Given the description of an element on the screen output the (x, y) to click on. 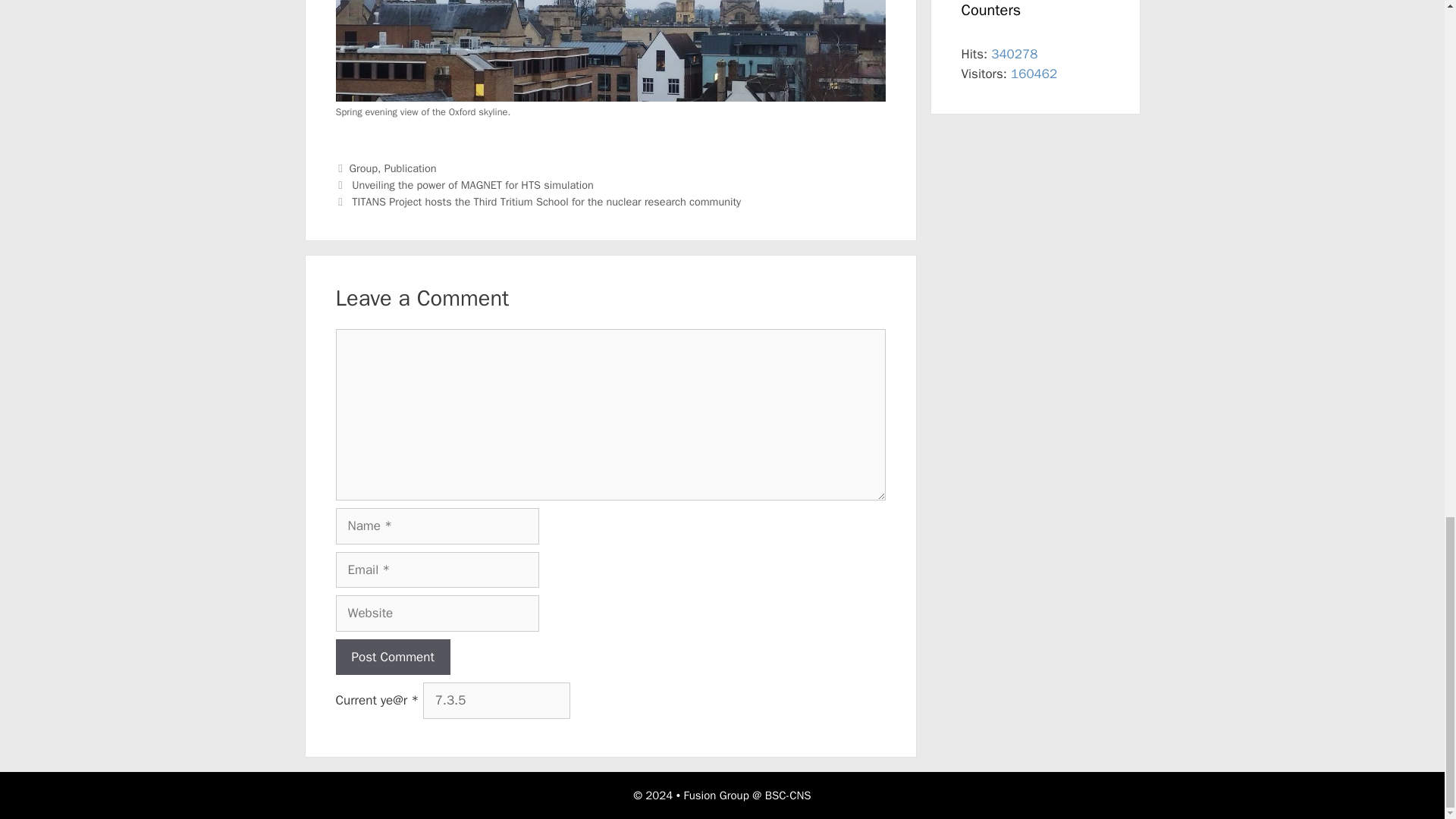
7.3.5 (496, 700)
Post Comment (391, 657)
Group (363, 168)
Post Comment (391, 657)
Scroll back to top (1406, 110)
Publication (410, 168)
Unveiling the power of MAGNET for HTS simulation (473, 184)
